Given the description of an element on the screen output the (x, y) to click on. 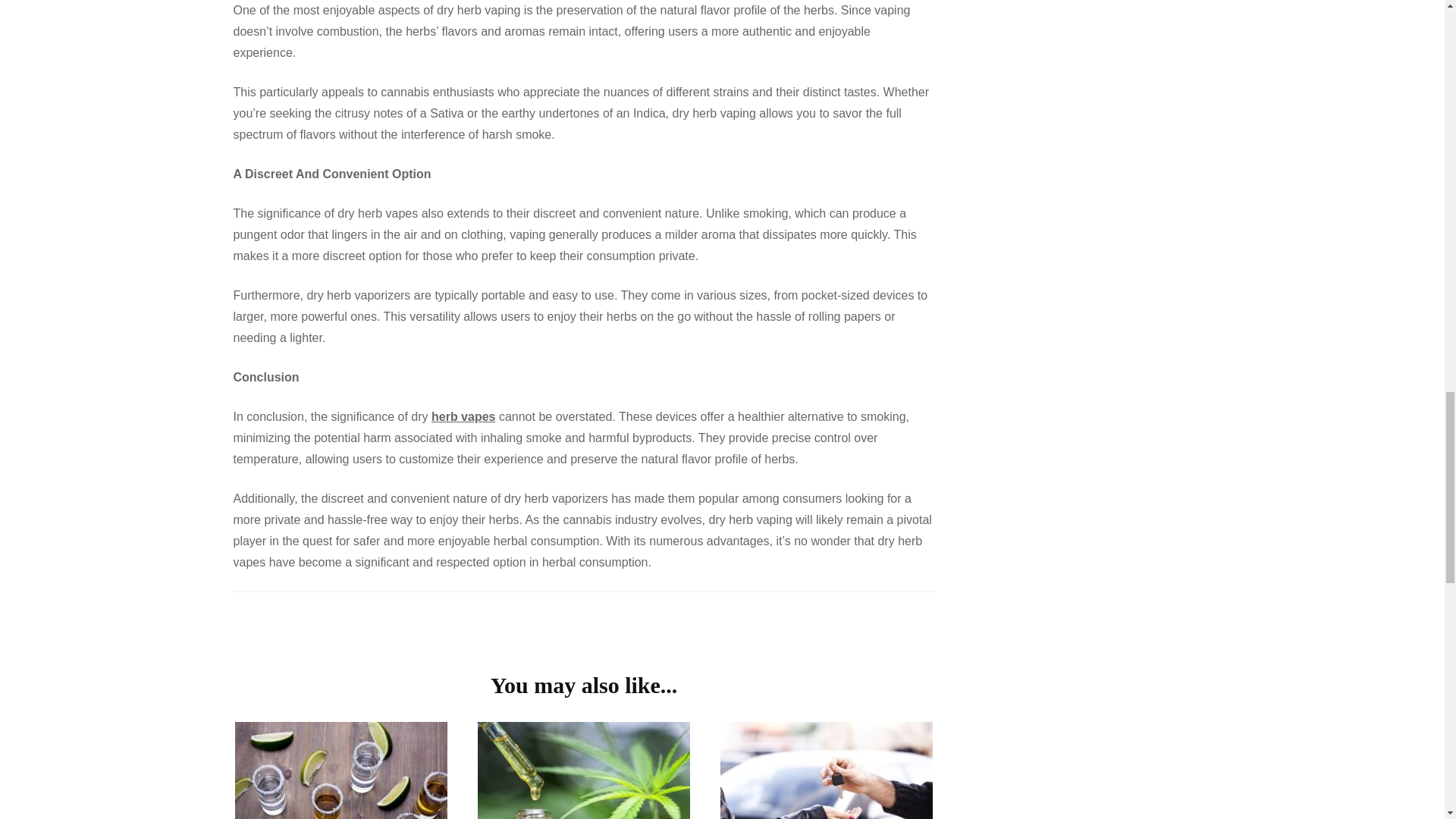
herb vapes (462, 416)
